Given the description of an element on the screen output the (x, y) to click on. 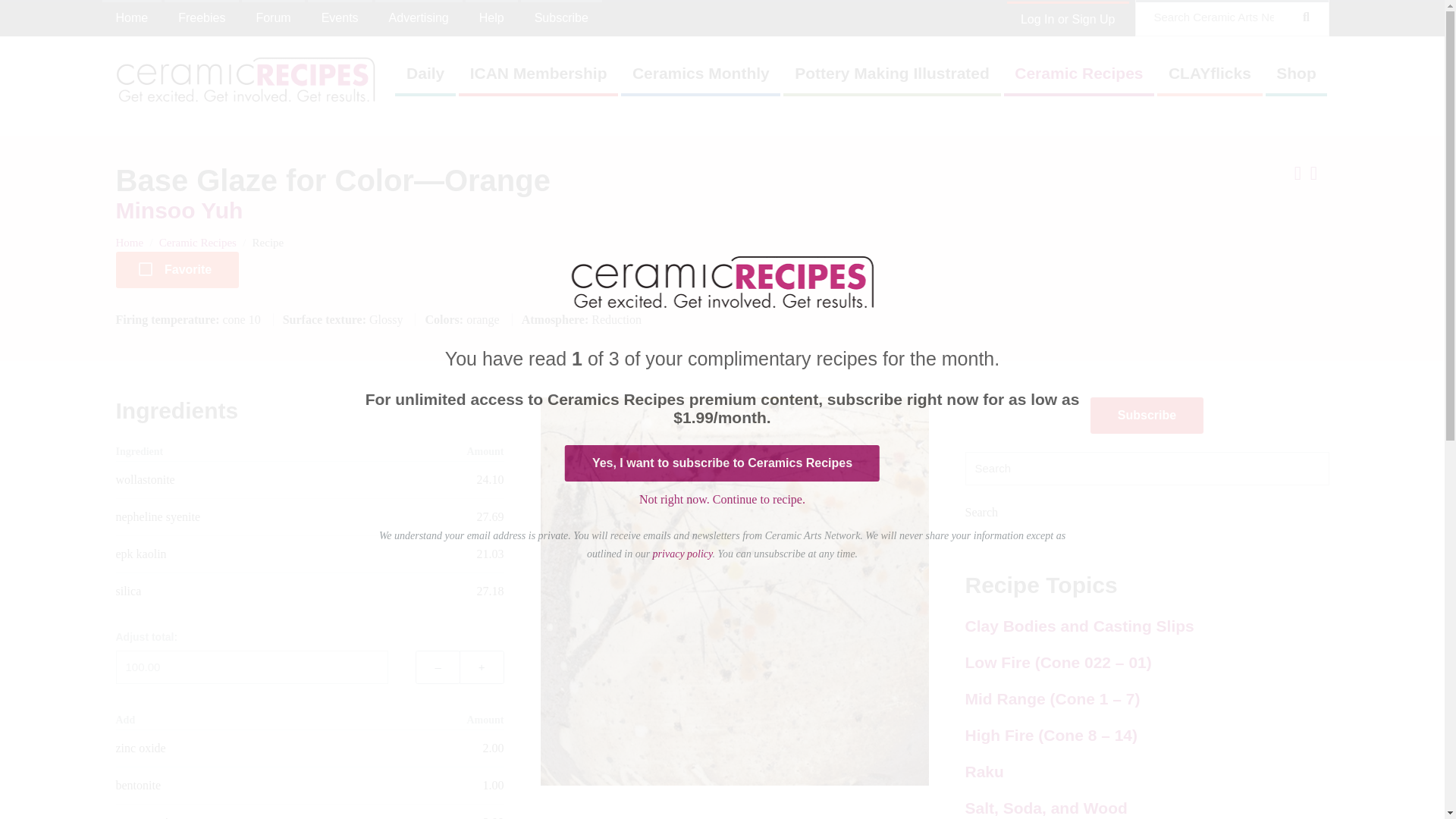
Freebies (201, 18)
Forum (272, 18)
Subscribe (561, 18)
Advertising (419, 18)
100.00 (251, 666)
Help (491, 18)
Daily (425, 79)
Home (131, 18)
Search input (1145, 468)
